Given the description of an element on the screen output the (x, y) to click on. 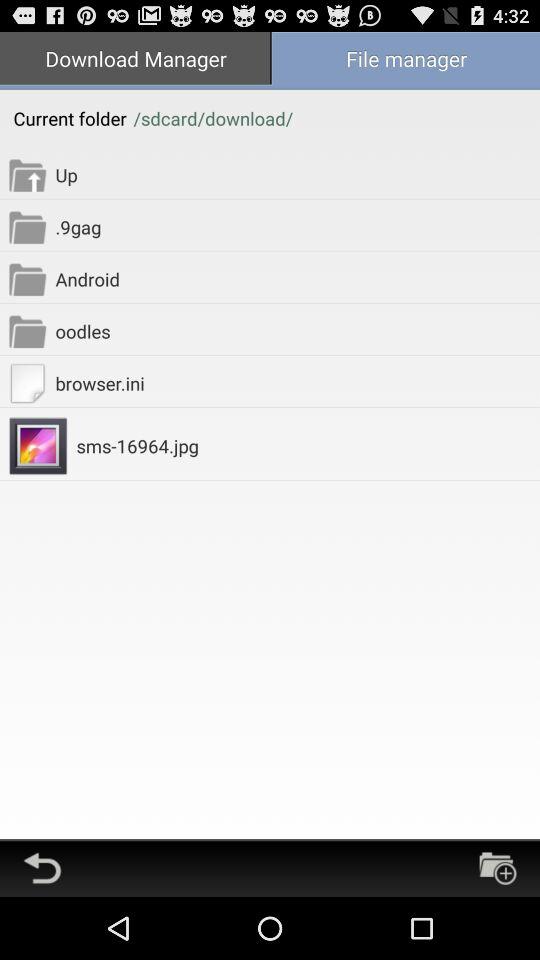
press app below up item (297, 226)
